Given the description of an element on the screen output the (x, y) to click on. 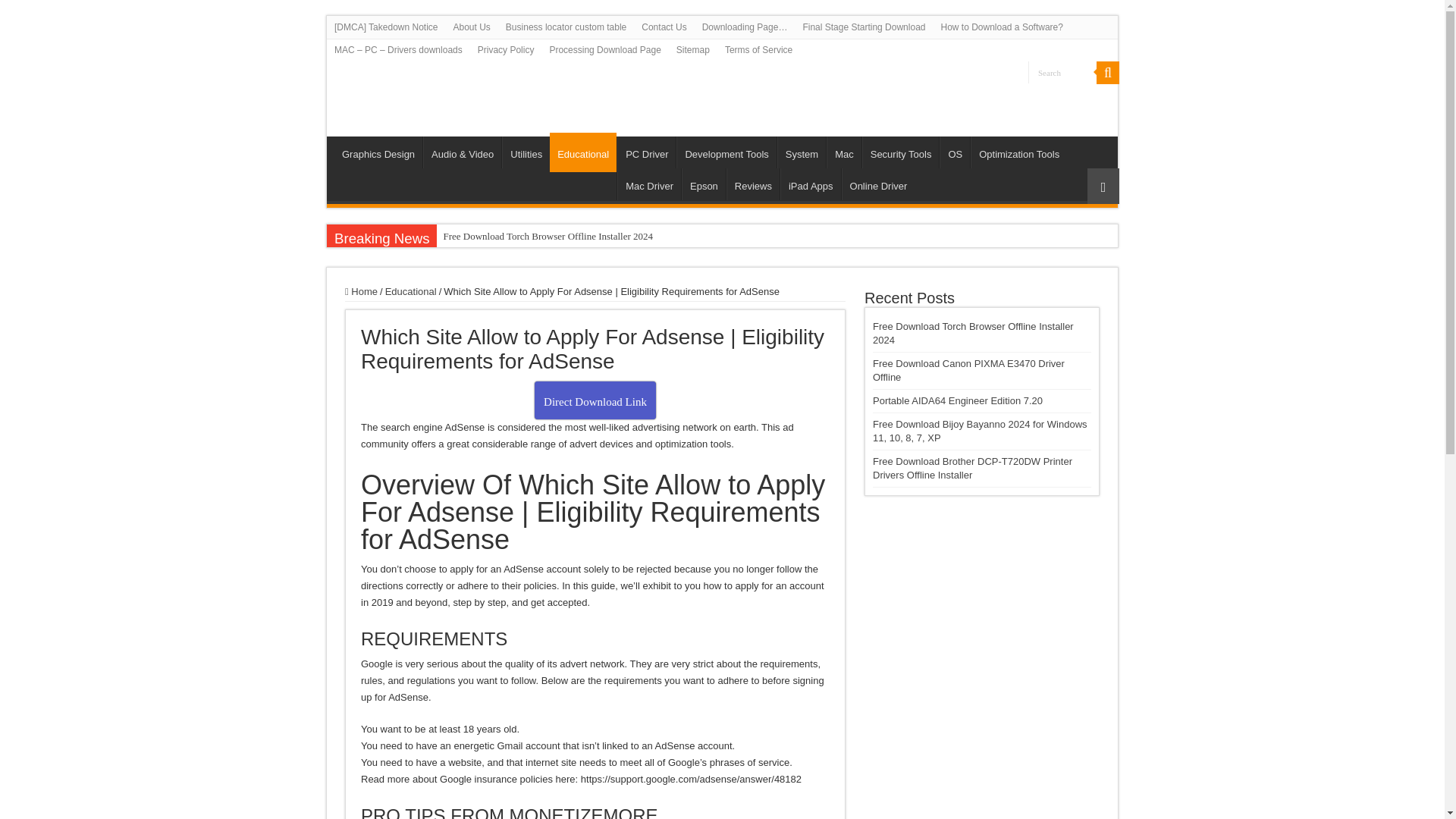
Sitemap (692, 49)
Epson (703, 183)
About Us (471, 26)
Security Tools (900, 152)
Business locator custom table (565, 26)
Educational (582, 151)
Contact Us (663, 26)
SoftBuff (416, 90)
Final Stage Starting Download (863, 26)
iPad Apps (810, 183)
OS (954, 152)
Development Tools (726, 152)
Search (1107, 72)
Graphics Design (378, 152)
Free Download Torch Browser Offline Installer 2024 (583, 236)
